Given the description of an element on the screen output the (x, y) to click on. 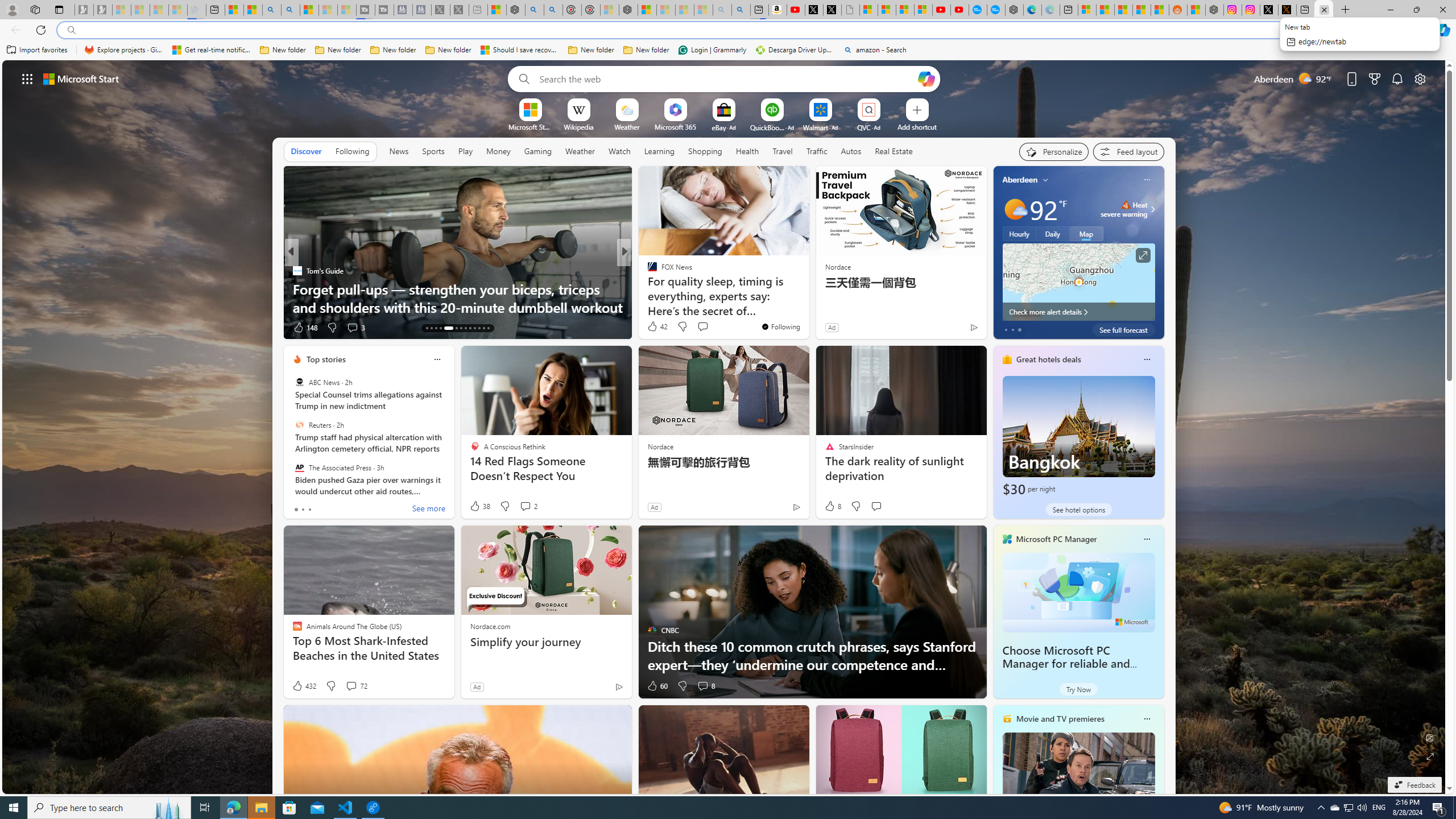
Well-Being Declines Before Mild Cognitive Impairment (807, 298)
15 Behaviors You MUST Avoid If You Want to Earn Respect (807, 298)
The Daily Beast (647, 270)
Shanghai, China Weather trends | Microsoft Weather (1159, 9)
View comments 2 Comment (528, 505)
tab-2 (309, 509)
ABC News (299, 382)
Day 1: Arriving in Yemen (surreal to be here) - YouTube (795, 9)
Microsoft PC Manager (1056, 538)
Sports (432, 151)
Nordace.com (490, 625)
1 Like (651, 327)
